Given the description of an element on the screen output the (x, y) to click on. 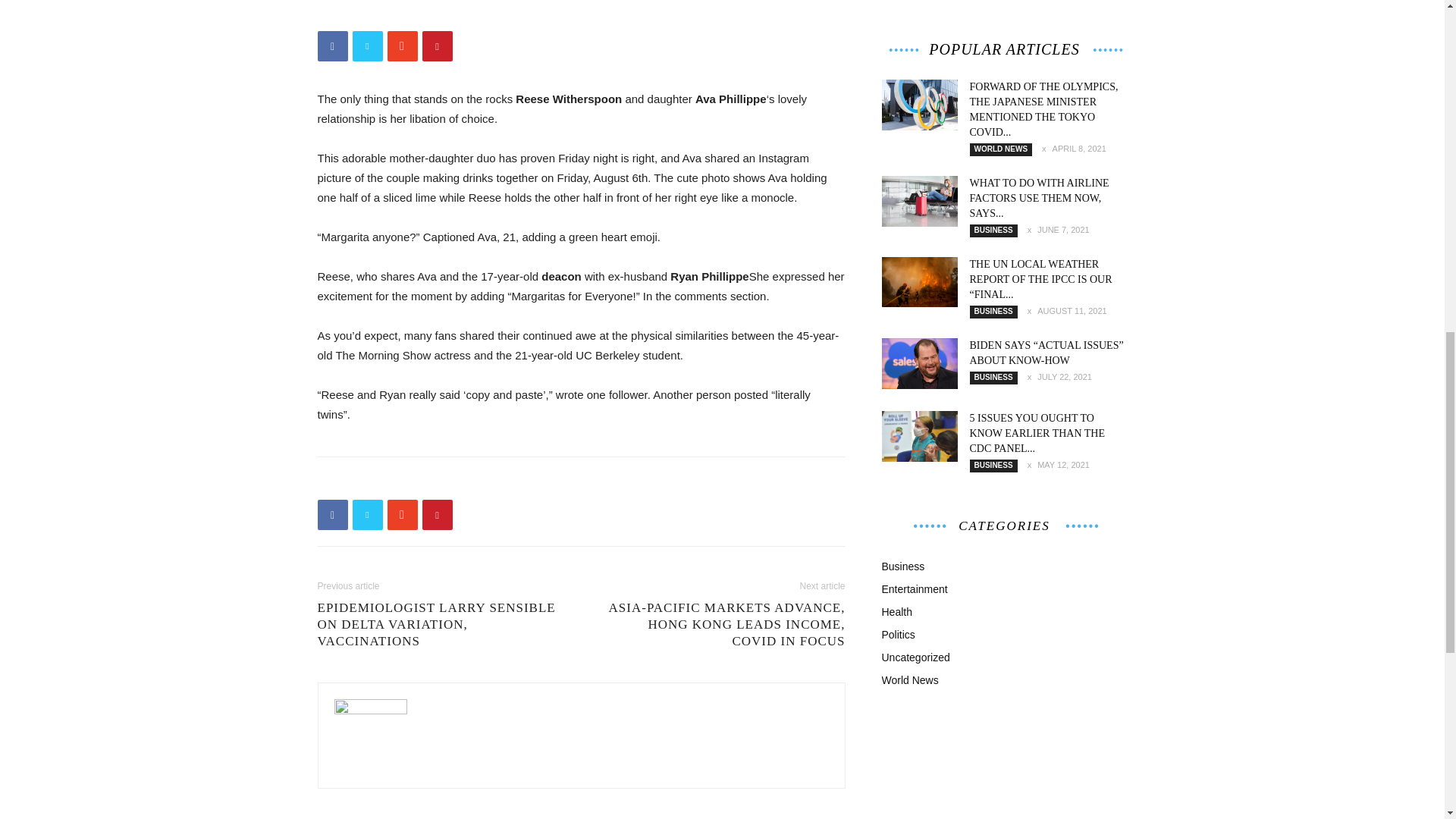
What to do with airline factors  Use them now, says Report (918, 201)
